Given the description of an element on the screen output the (x, y) to click on. 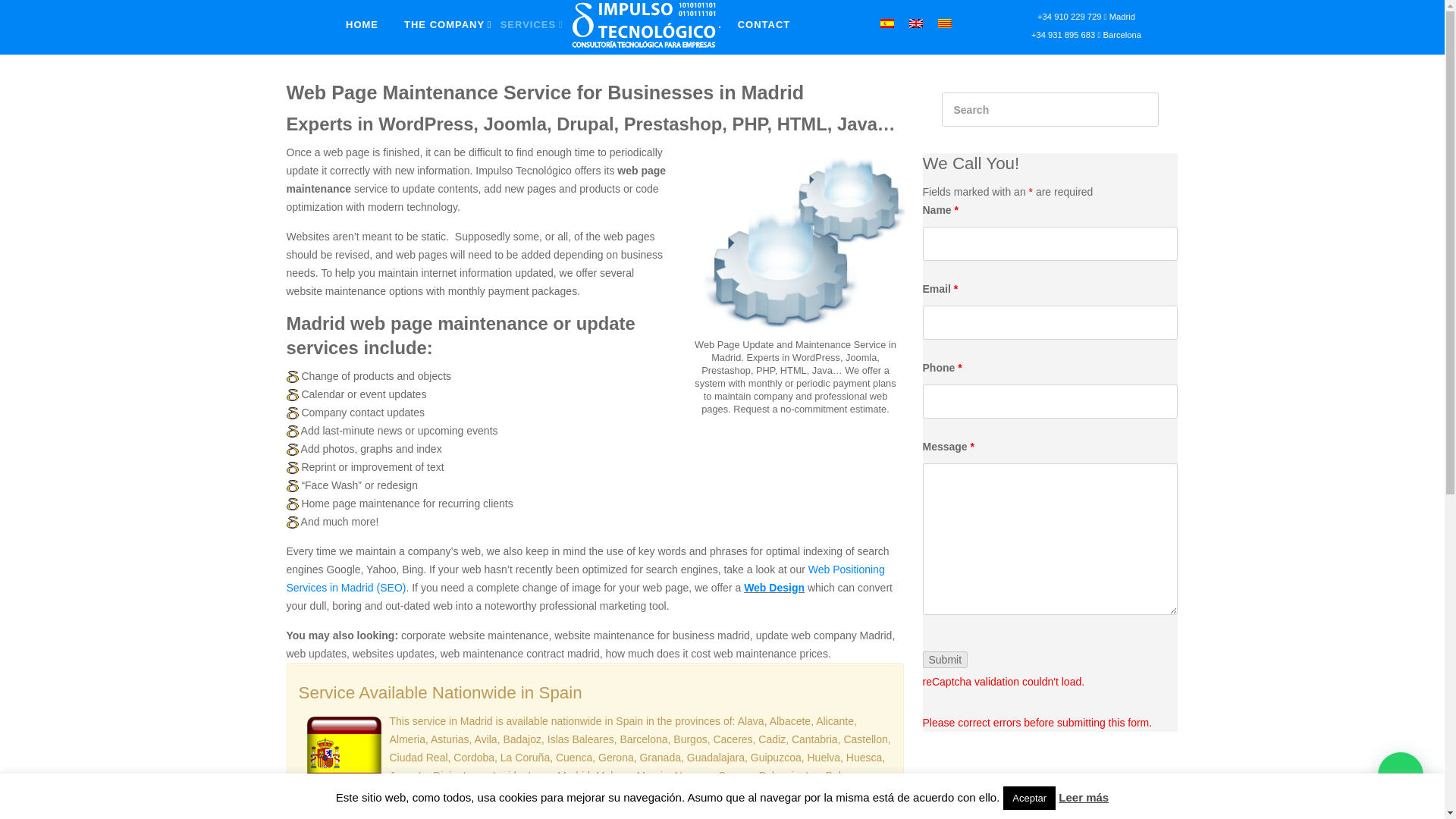
. (647, 24)
CONTACT (763, 24)
Submit (944, 659)
HOME (362, 24)
THE COMPANY (445, 24)
Web Design (774, 587)
